Given the description of an element on the screen output the (x, y) to click on. 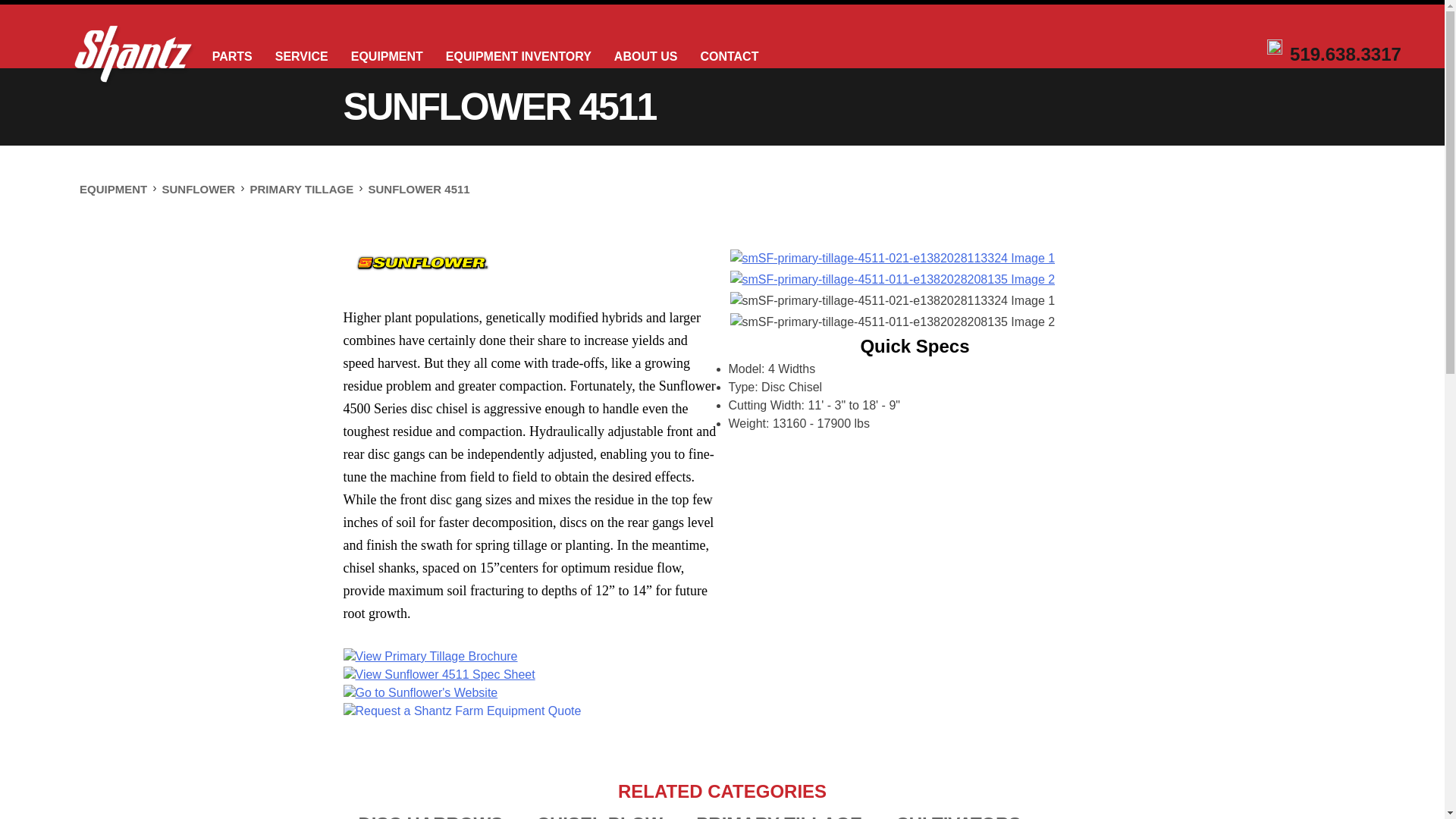
DISC HARROWS (430, 816)
ABOUT US (646, 56)
smSF-primary-tillage-4511-021-e1382028113324 Image 1 (892, 258)
519.638.3317 (1345, 51)
smSF-primary-tillage-4511-011-e1382028208135 Image 2 (892, 322)
PARTS (231, 56)
CONTACT (729, 56)
EQUIPMENT (113, 188)
smSF-primary-tillage-4511-011-e1382028208135 Image 2 (892, 279)
CHISEL PLOW (599, 816)
